Given the description of an element on the screen output the (x, y) to click on. 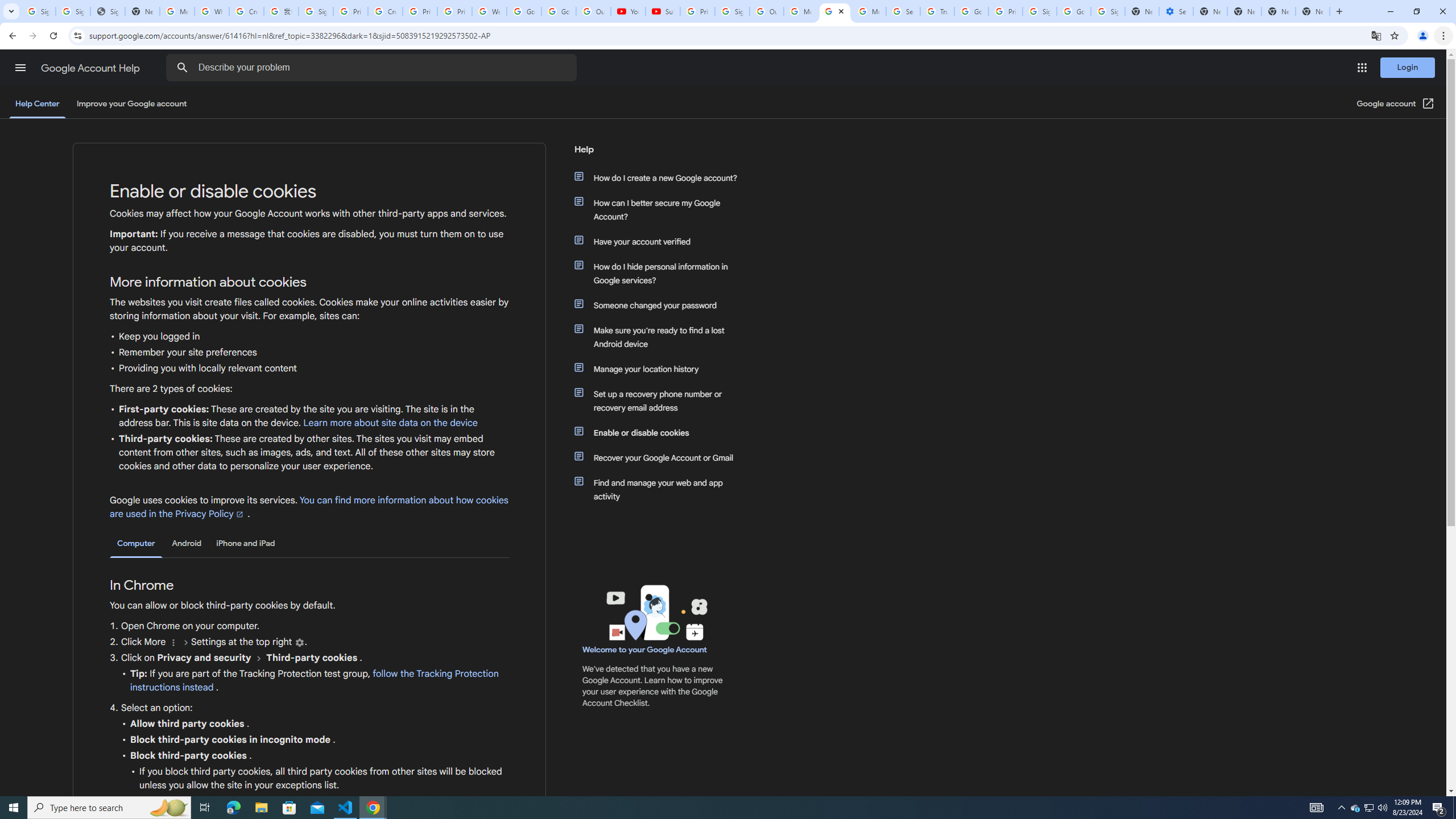
Google Account (Opens in new window) (1395, 103)
Create your Google Account (384, 11)
Trusted Information and Content - Google Safety Center (937, 11)
Sign in - Google Accounts (315, 11)
Learn more about site data on the device (390, 423)
Turn cookies on or off - Computer - Google Account Help (834, 11)
Have your account verified (661, 241)
New Tab (1312, 11)
Translate this page (1376, 35)
